Given the description of an element on the screen output the (x, y) to click on. 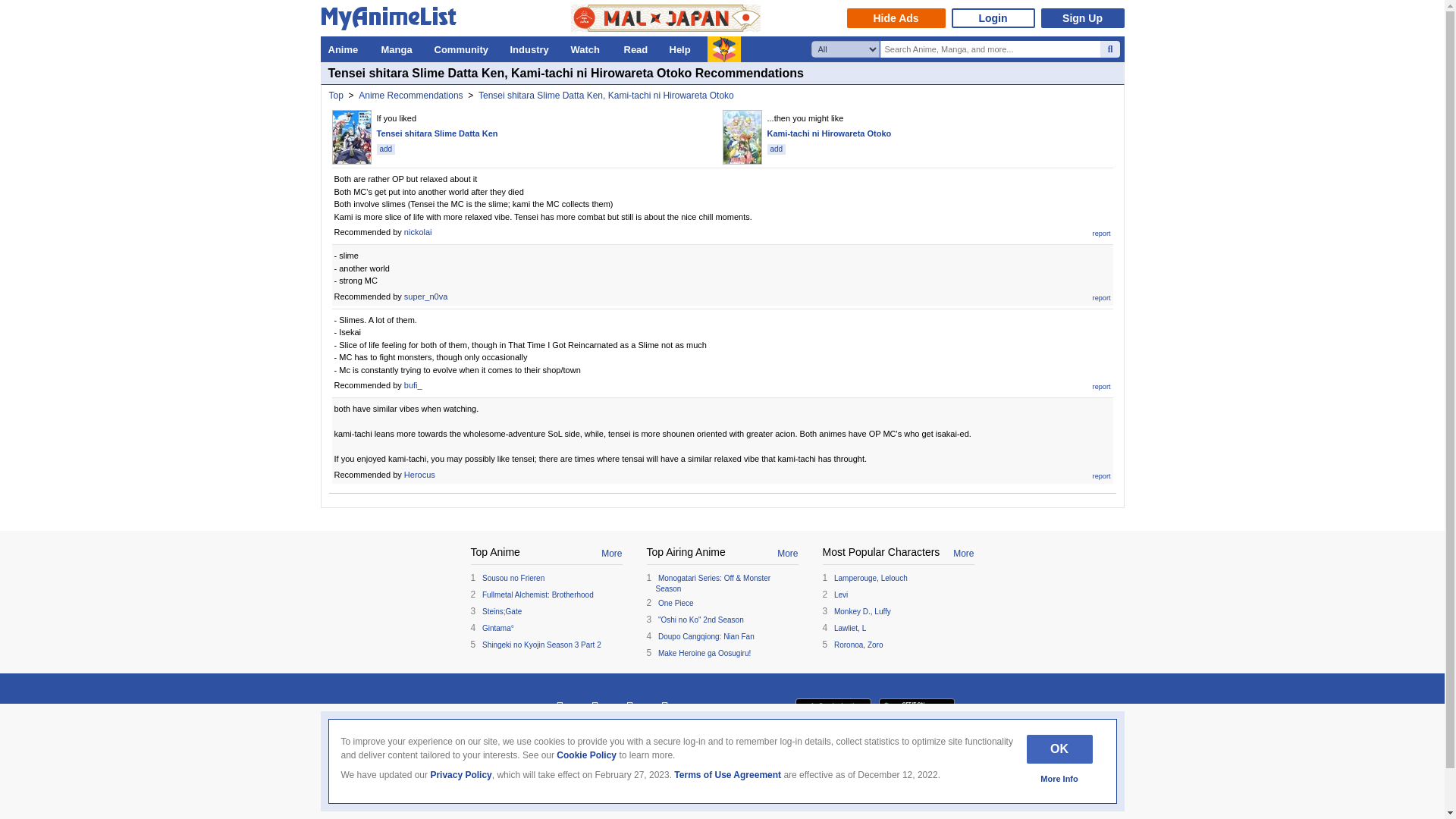
Tensei shitara Slime Datta Ken (436, 133)
Anime (346, 49)
MAL x JAPAN (665, 17)
Read (638, 49)
Manga (399, 49)
Login (991, 17)
Community (464, 49)
Industry (532, 49)
Join Discord Chat (665, 709)
Kami-tachi ni Hirowareta Otoko (829, 133)
